Given the description of an element on the screen output the (x, y) to click on. 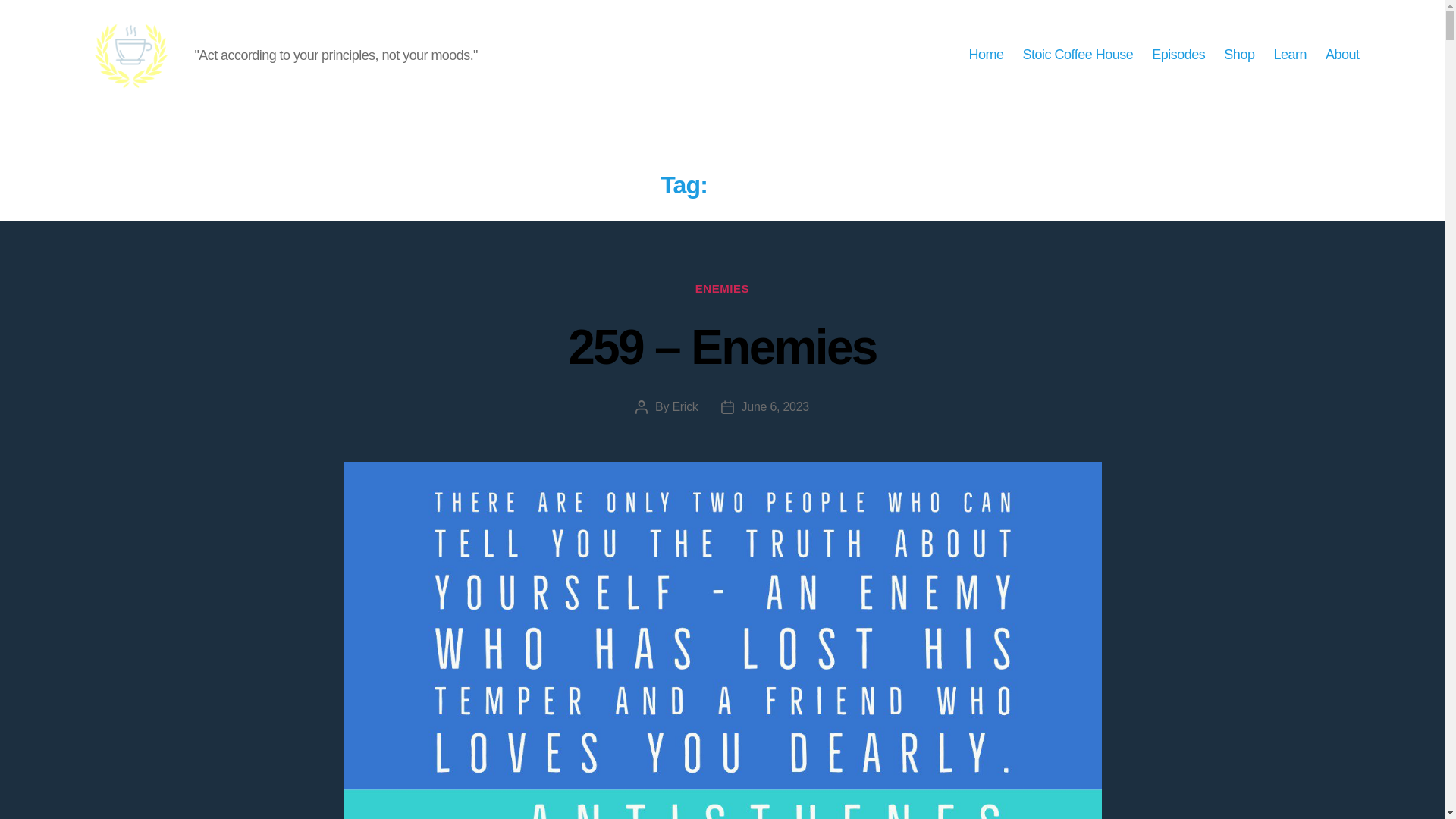
Episodes (1178, 54)
About (1341, 54)
Home (985, 54)
Erick (684, 406)
June 6, 2023 (775, 406)
Learn (1289, 54)
Shop (1238, 54)
ENEMIES (722, 289)
Stoic Coffee House (1077, 54)
